Given the description of an element on the screen output the (x, y) to click on. 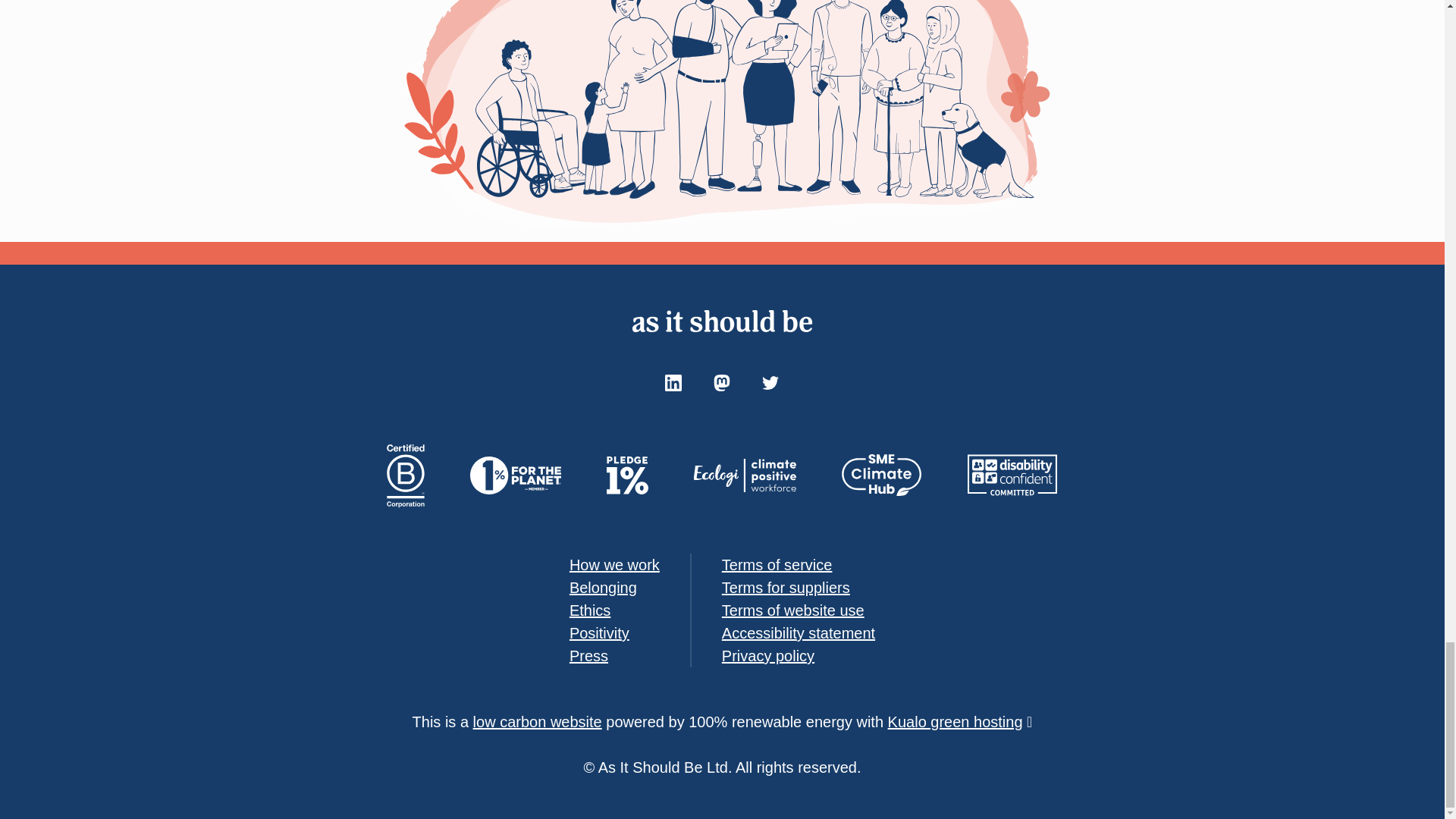
low carbon website (537, 721)
Terms for suppliers (786, 587)
Press (588, 655)
Belonging (603, 587)
Kualo green hosting (955, 721)
Accessibility statement (798, 632)
Terms of service (777, 564)
Ethics (589, 610)
Privacy policy (767, 655)
How we work (614, 564)
